Given the description of an element on the screen output the (x, y) to click on. 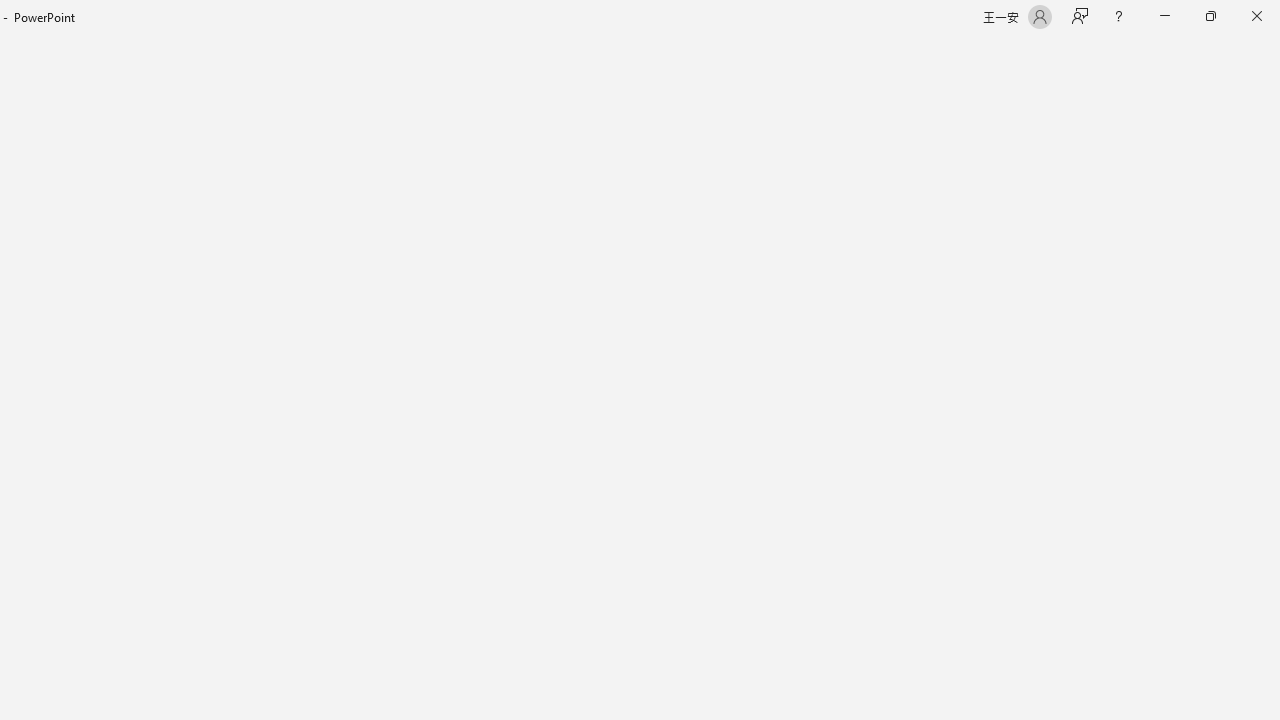
Restore Down (1210, 16)
